Given the description of an element on the screen output the (x, y) to click on. 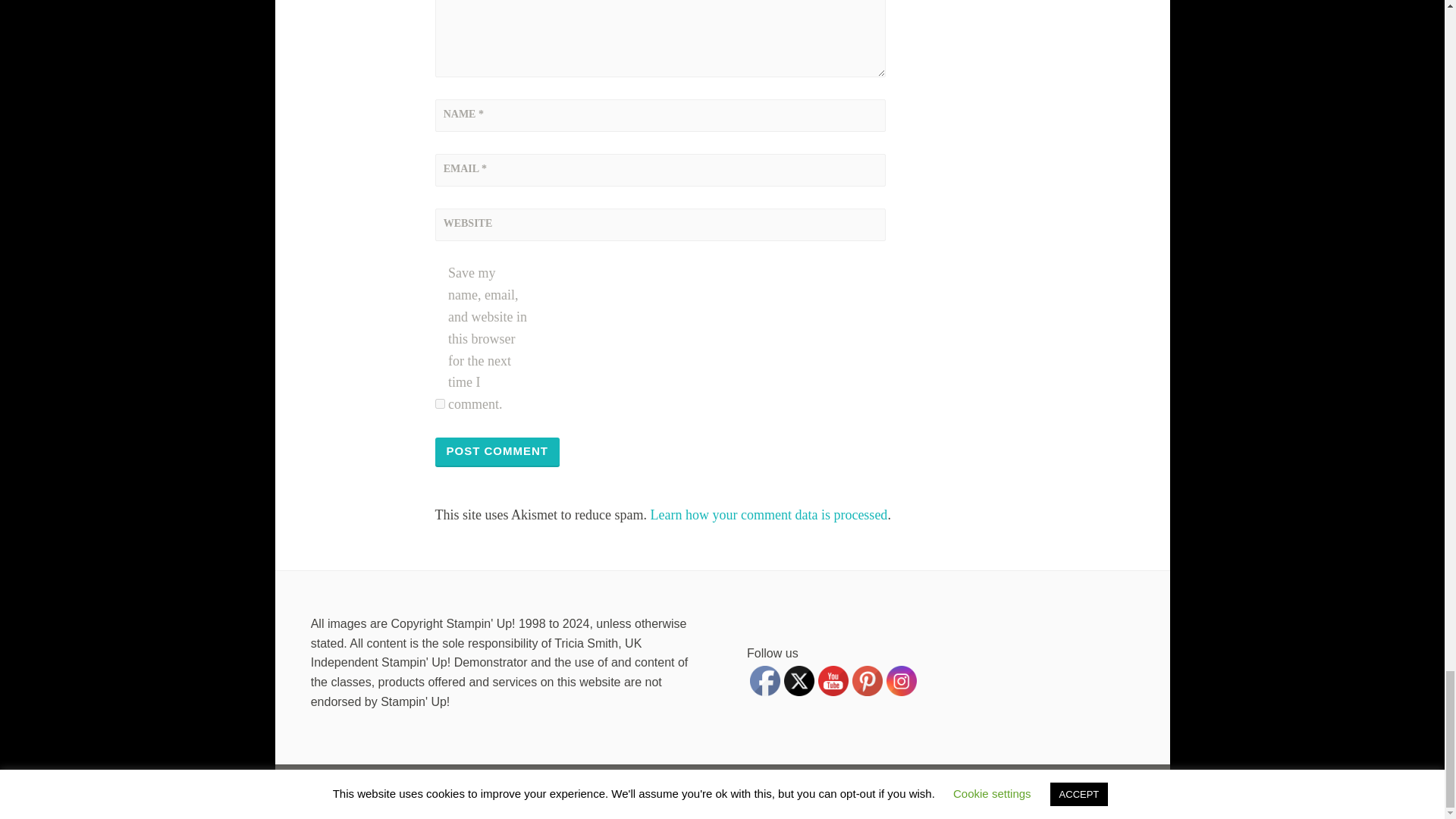
Pinterest (866, 680)
YouTube (833, 680)
Post Comment (497, 452)
yes (440, 403)
Facebook (764, 680)
Twitter (798, 680)
Post Comment (497, 452)
